Given the description of an element on the screen output the (x, y) to click on. 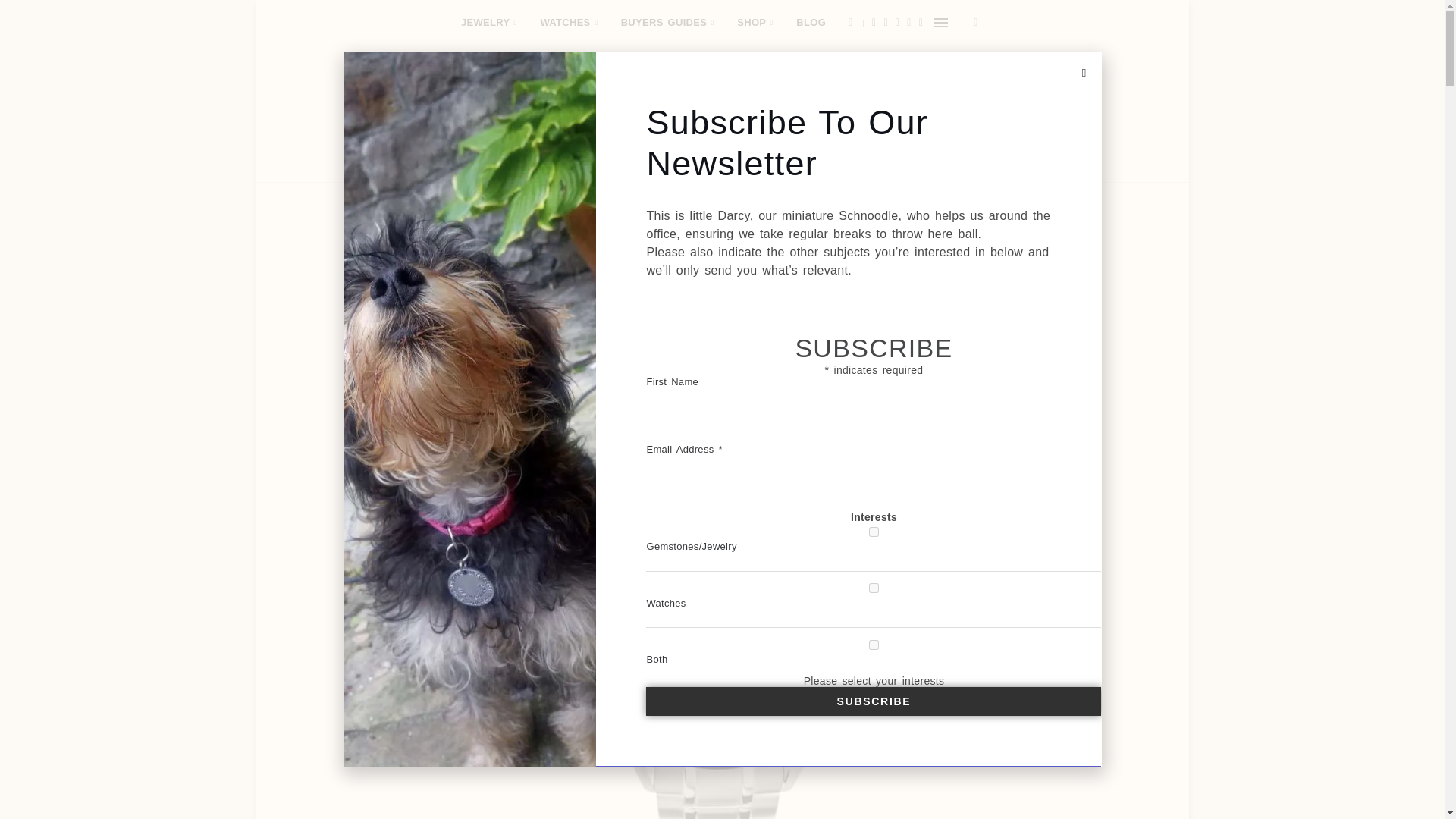
BLOG (810, 22)
JEWELRY (489, 22)
Subscribe (873, 701)
BUYERS GUIDES (667, 22)
SHOP (754, 22)
WATCHES (568, 22)
